Given the description of an element on the screen output the (x, y) to click on. 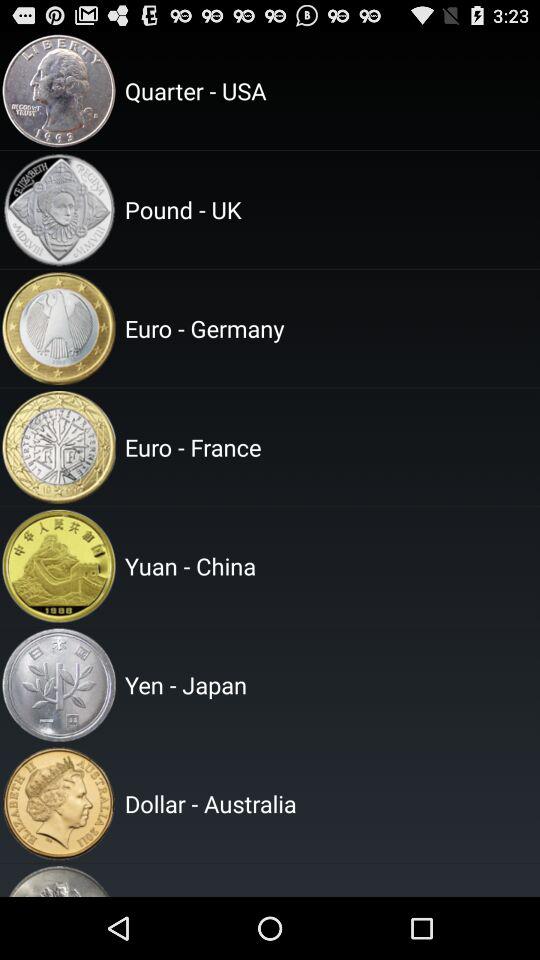
tap the pound - uk app (329, 209)
